Given the description of an element on the screen output the (x, y) to click on. 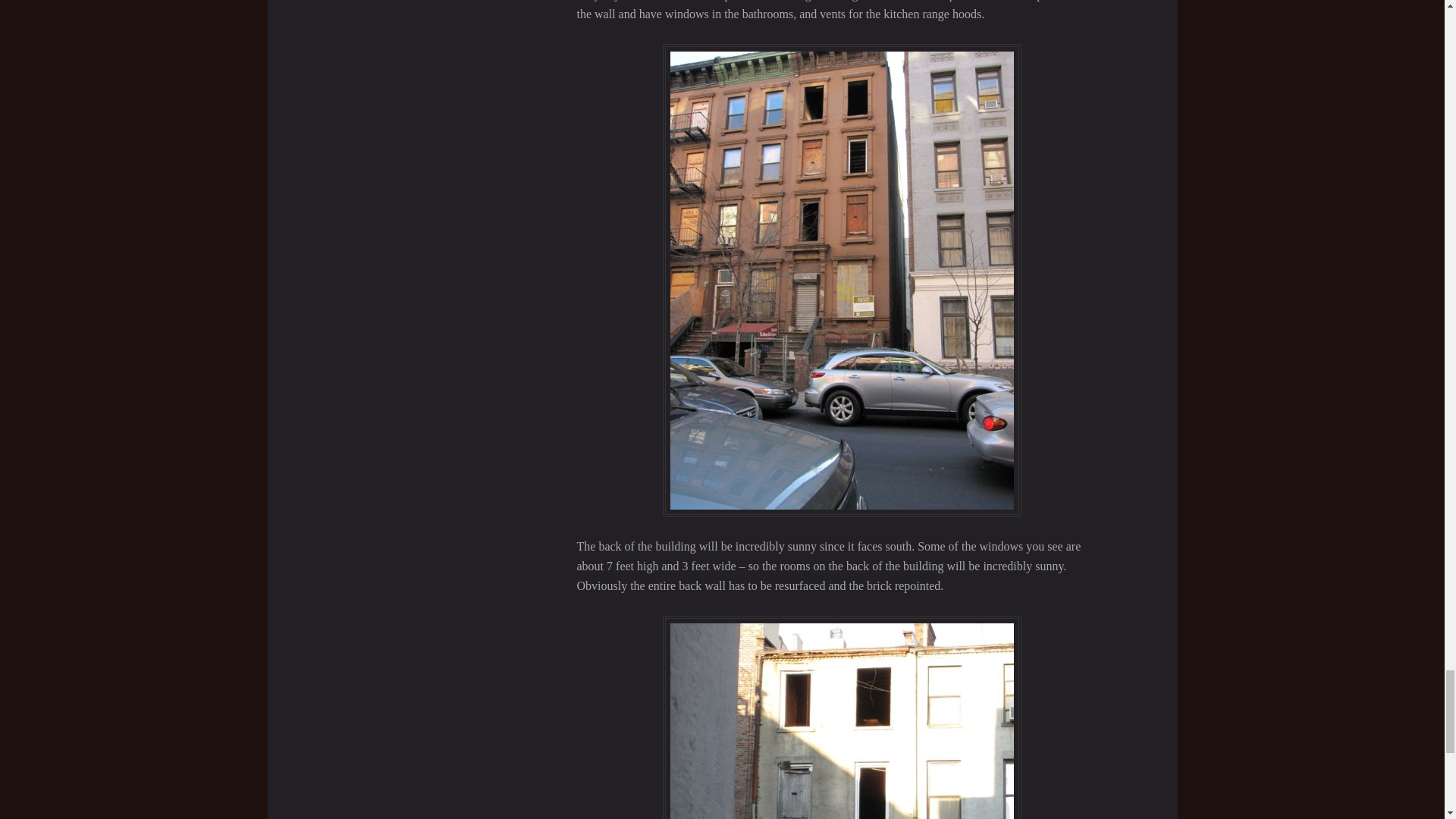
The back of 168 West 123rd Street (842, 717)
